Given the description of an element on the screen output the (x, y) to click on. 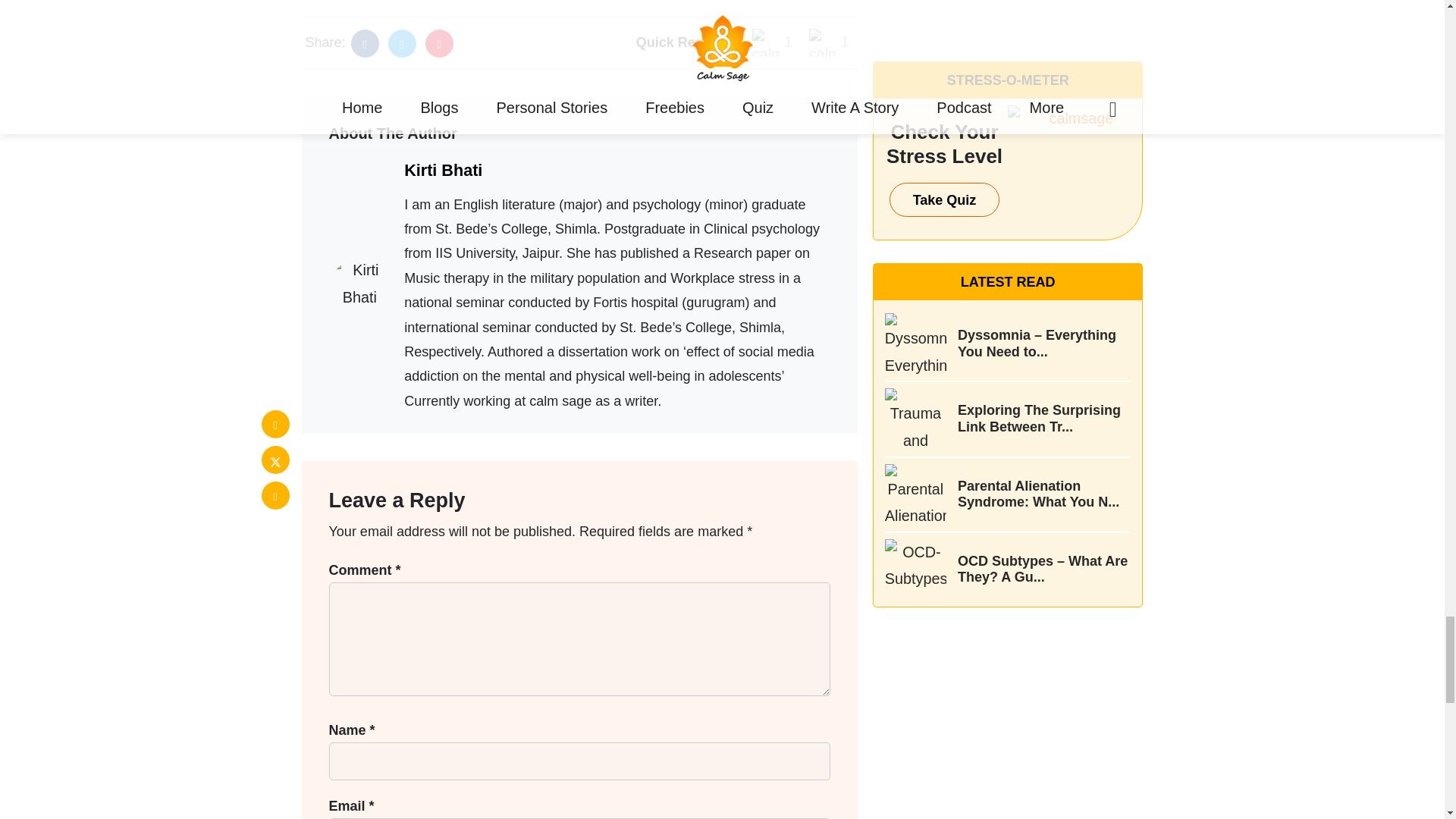
1 (772, 42)
Kirti Bhati (442, 169)
1 (829, 42)
